Given the description of an element on the screen output the (x, y) to click on. 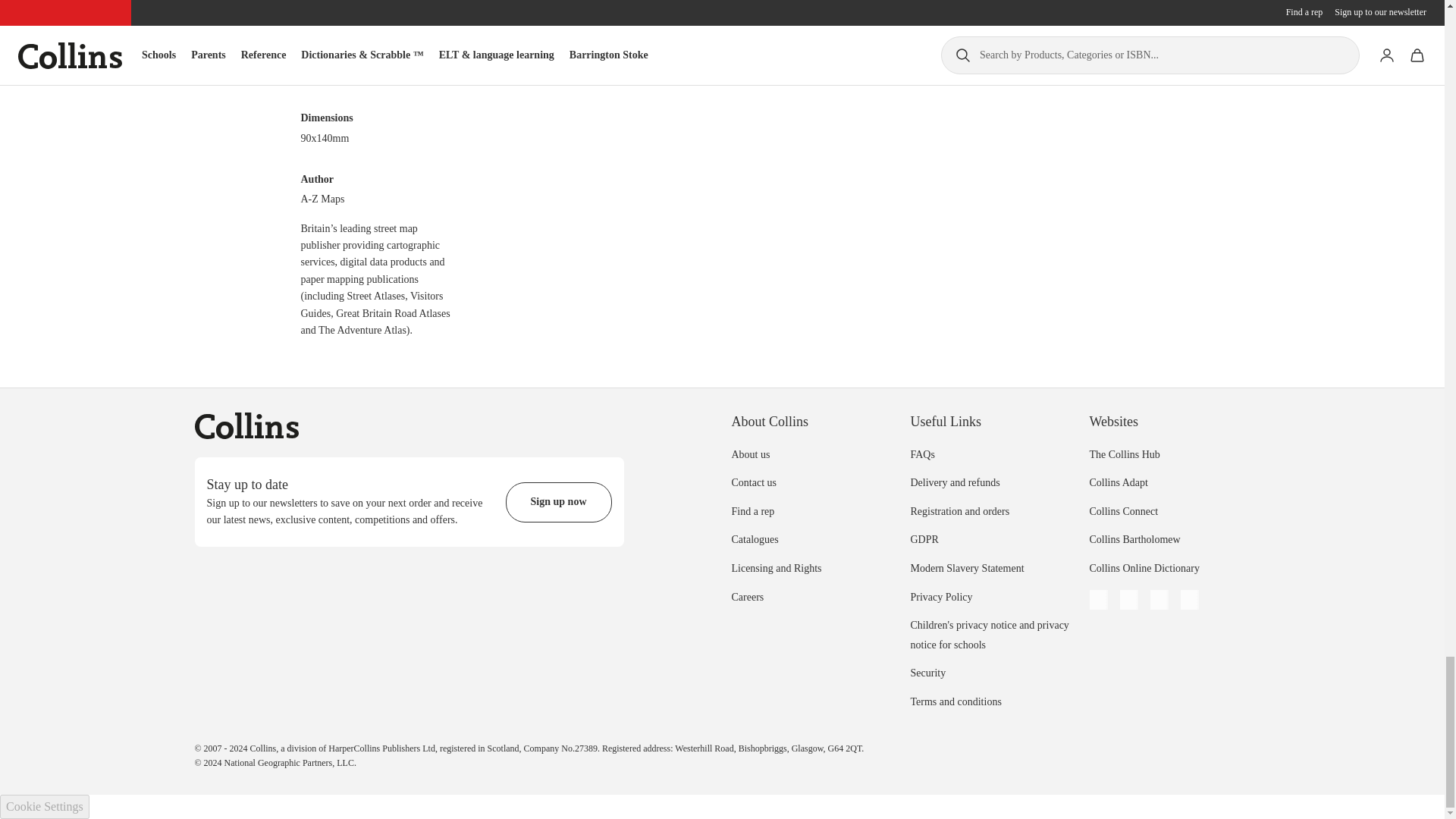
FAQs (922, 454)
Contact us (753, 482)
Catalogues (753, 539)
Registration and orders (959, 511)
Find a rep (752, 511)
About us (750, 454)
Careers (746, 596)
Licensing and Rights (775, 568)
Sign up now (558, 501)
Delivery and refunds (954, 482)
